Given the description of an element on the screen output the (x, y) to click on. 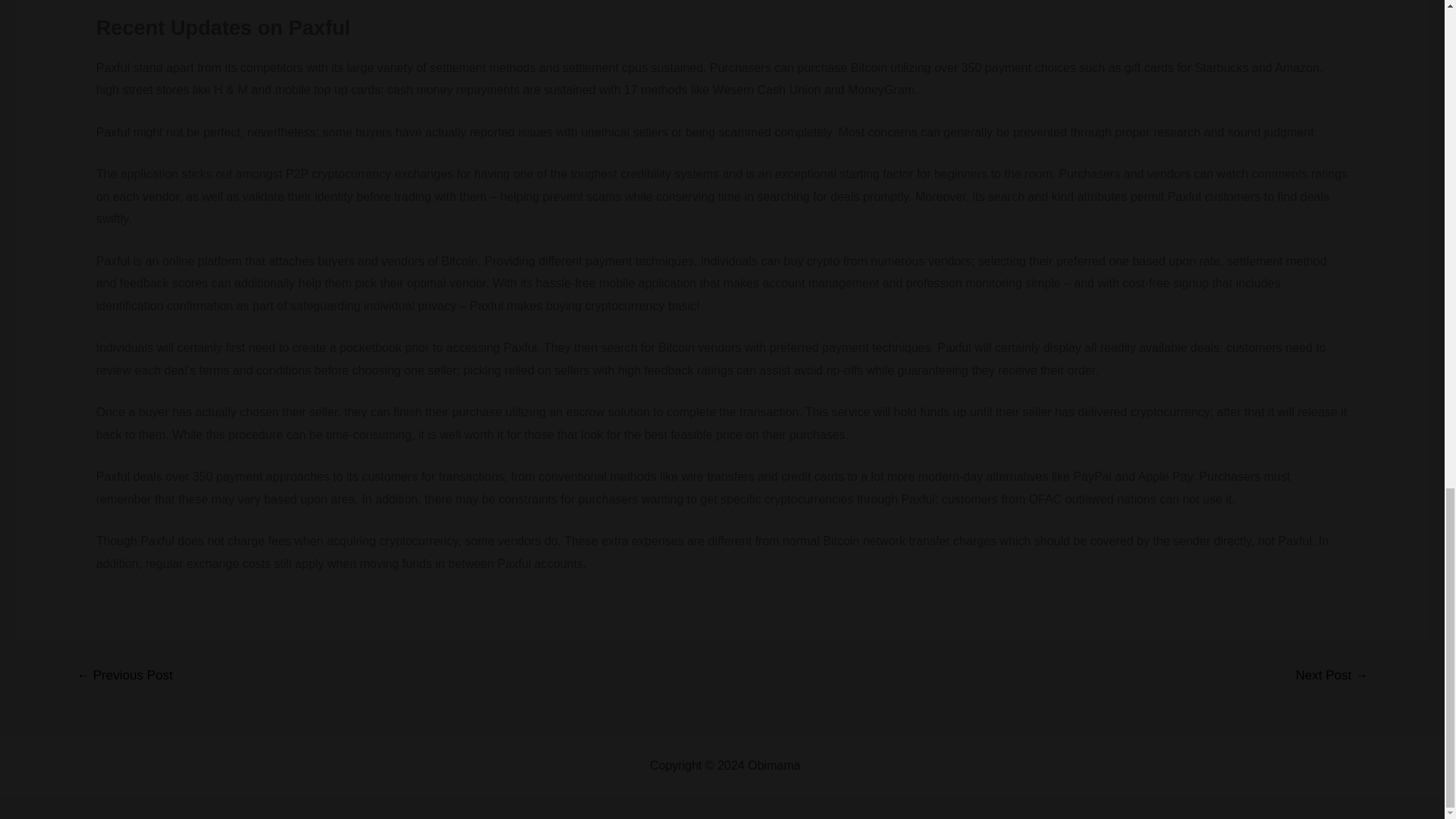
Sitemap (825, 765)
